Given the description of an element on the screen output the (x, y) to click on. 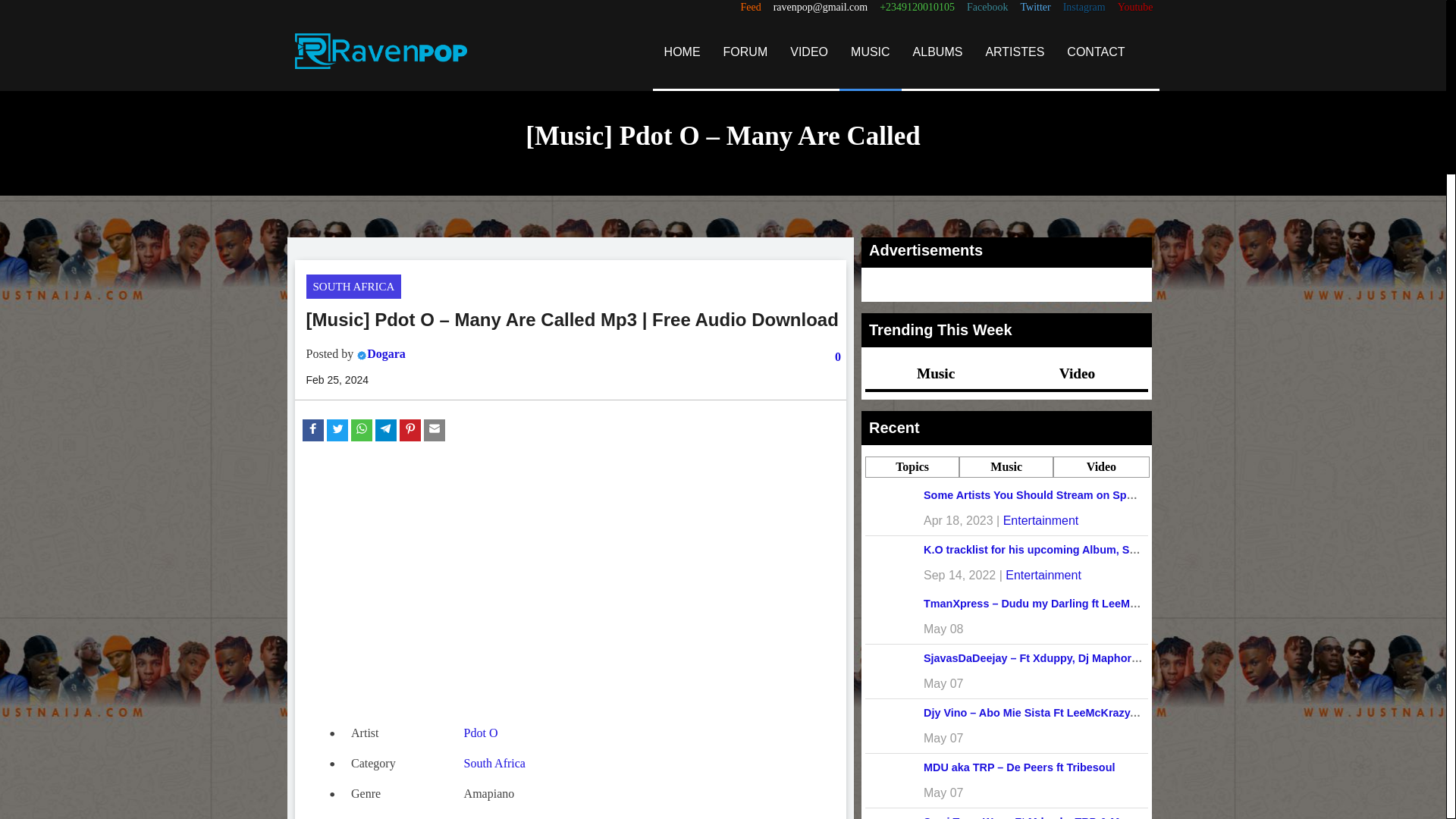
Youtube (1135, 7)
Some Artists You Should Stream on Spotify (1036, 494)
VIDEO (809, 51)
HOME (681, 51)
Dogara (386, 353)
Entertainment (1043, 574)
Pdot O (480, 732)
MUSIC (870, 51)
FORUM (744, 51)
0 (837, 356)
SOUTH AFRICA (353, 286)
Entertainment (1040, 520)
Siphelele :Book I (506, 818)
CONTACT (1095, 51)
